Given the description of an element on the screen output the (x, y) to click on. 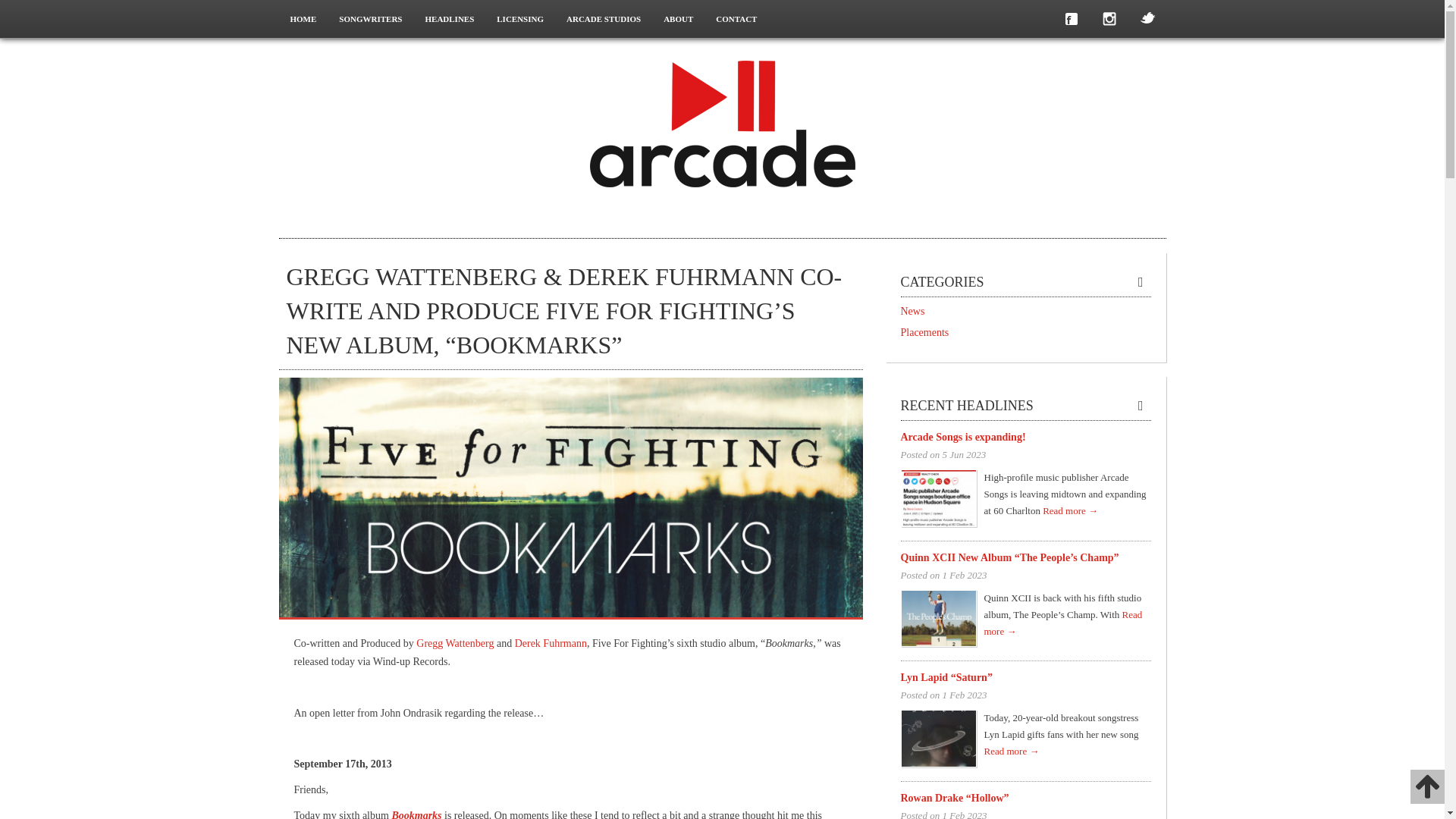
HEADLINES (448, 18)
ARCADE STUDIOS (603, 18)
Gregg Wattenberg (454, 643)
HOME (304, 18)
Follow on Twitter (1147, 18)
Follow on Facebook (1071, 18)
Placements (1026, 332)
Derek Fuhrmann (550, 643)
Arcade Songs is expanding! (1026, 437)
LICENSING (519, 18)
ABOUT (678, 18)
SONGWRITERS (370, 18)
Follow on Instagram (1109, 18)
Derek Fuhrmann (550, 643)
Arcade Songs (722, 120)
